Given the description of an element on the screen output the (x, y) to click on. 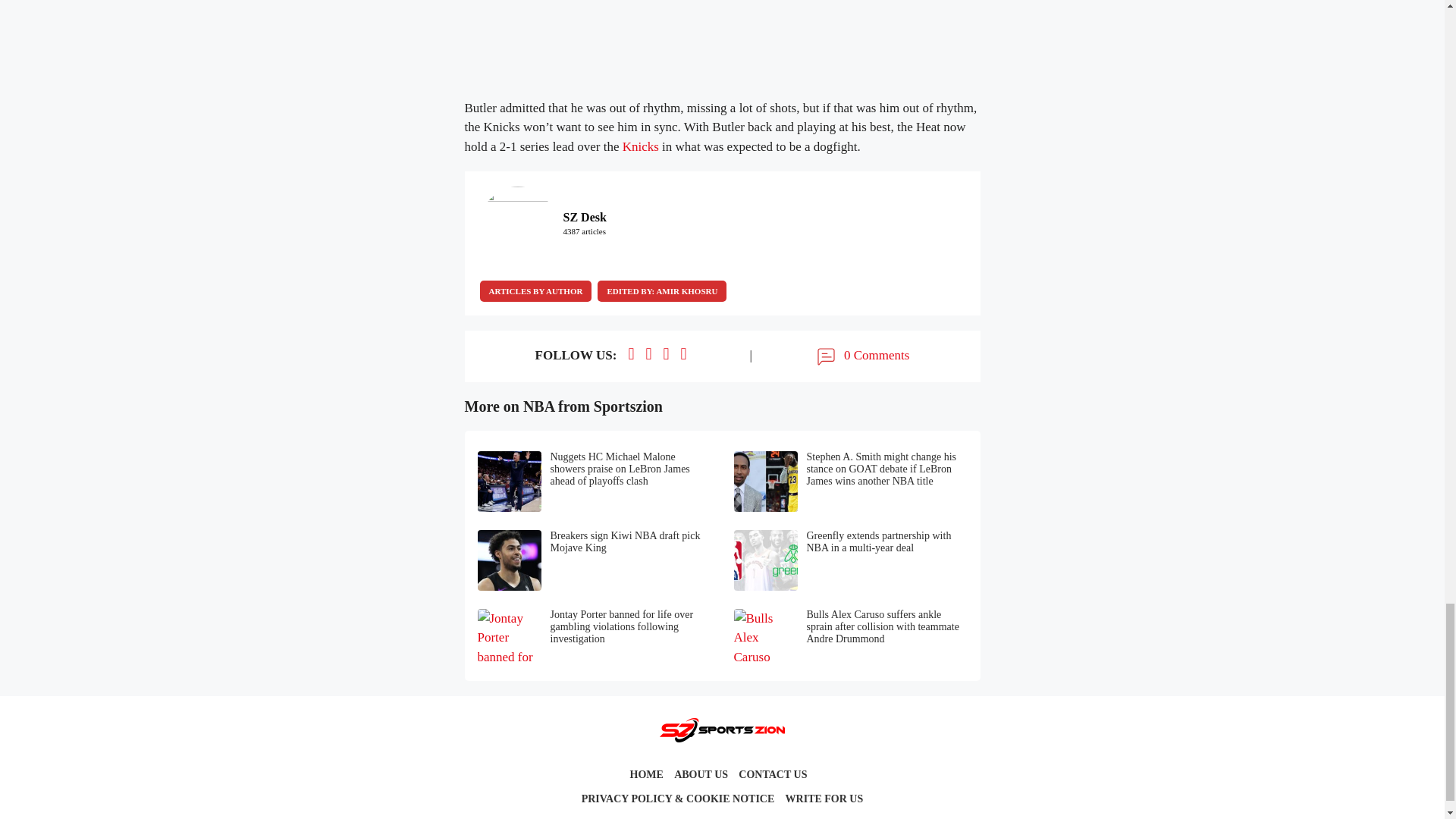
Knicks (641, 146)
EDITED BY: AMIR KHOSRU (661, 291)
0 Comments (861, 355)
ARTICLES BY AUTHOR (535, 291)
Greenfly extends partnership with NBA in a multi-year deal (850, 559)
Breakers sign Kiwi NBA draft pick Mojave King (594, 559)
